Given the description of an element on the screen output the (x, y) to click on. 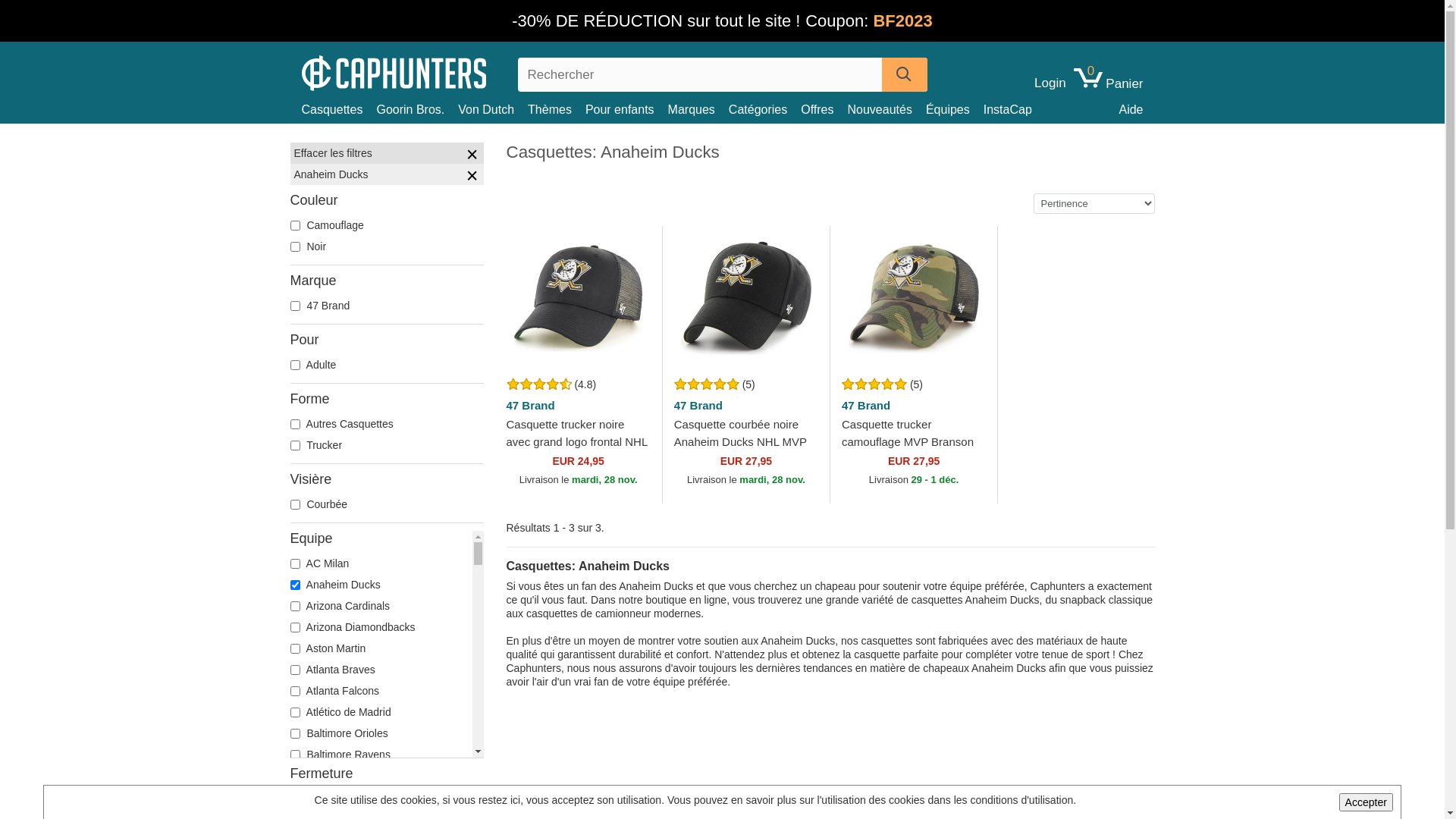
Tout effacer Element type: hover (472, 155)
Login Element type: text (1050, 83)
InstaCap Element type: text (1014, 109)
Casquettes Element type: text (338, 109)
47 Brand Element type: text (577, 405)
Marques Element type: text (698, 109)
Pour enfants Element type: text (626, 109)
Offres Element type: text (823, 109)
47 Brand Element type: text (913, 405)
Von Dutch Element type: text (492, 109)
Aide Element type: text (1130, 109)
Search Element type: hover (903, 74)
Caphunters Element type: hover (398, 71)
0
Panier Element type: text (1108, 83)
Accepter Element type: text (1366, 802)
47 Brand Element type: text (745, 405)
Goorin Bros. Element type: text (417, 109)
